Given the description of an element on the screen output the (x, y) to click on. 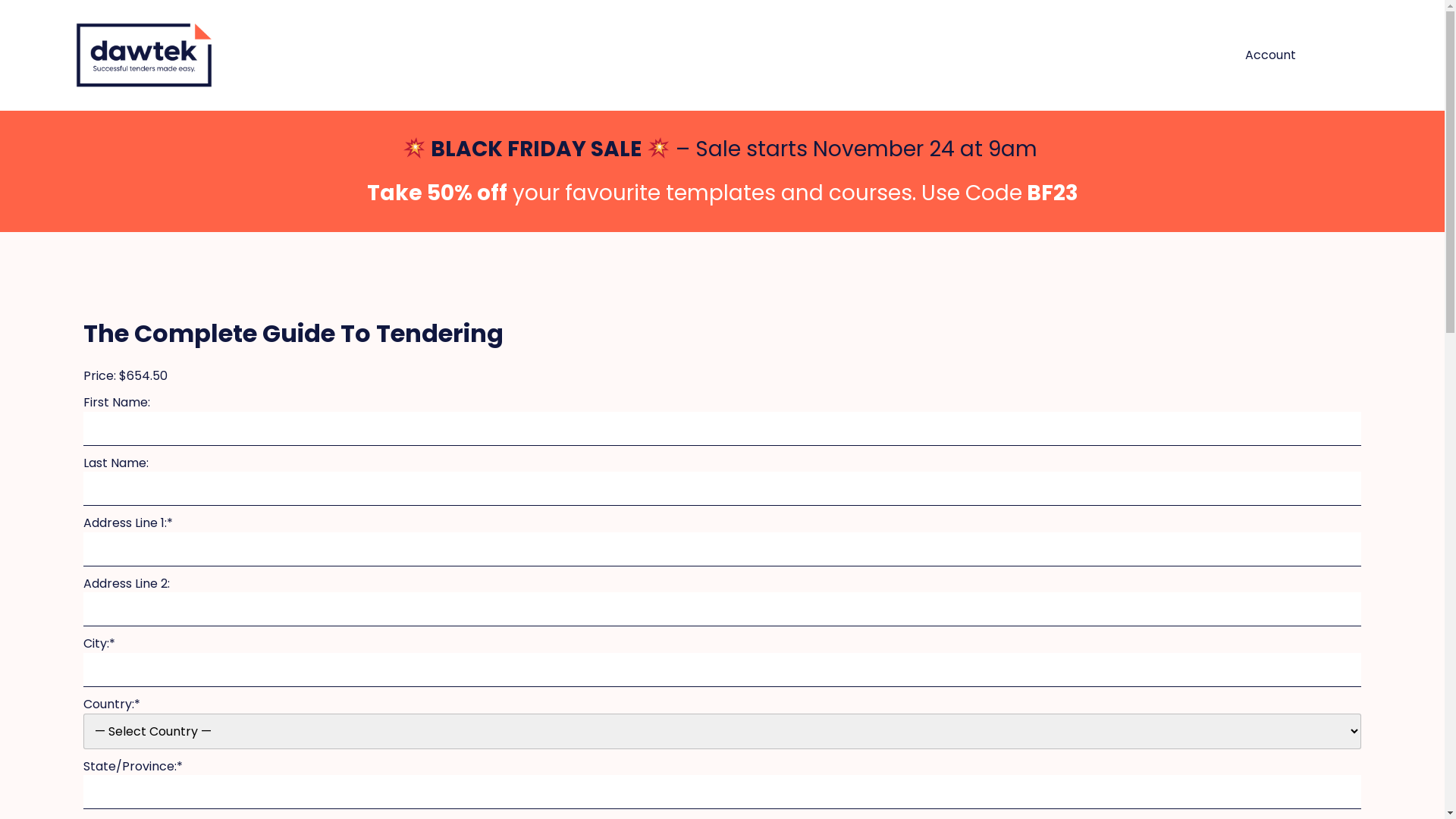
Account Element type: text (1270, 55)
